Given the description of an element on the screen output the (x, y) to click on. 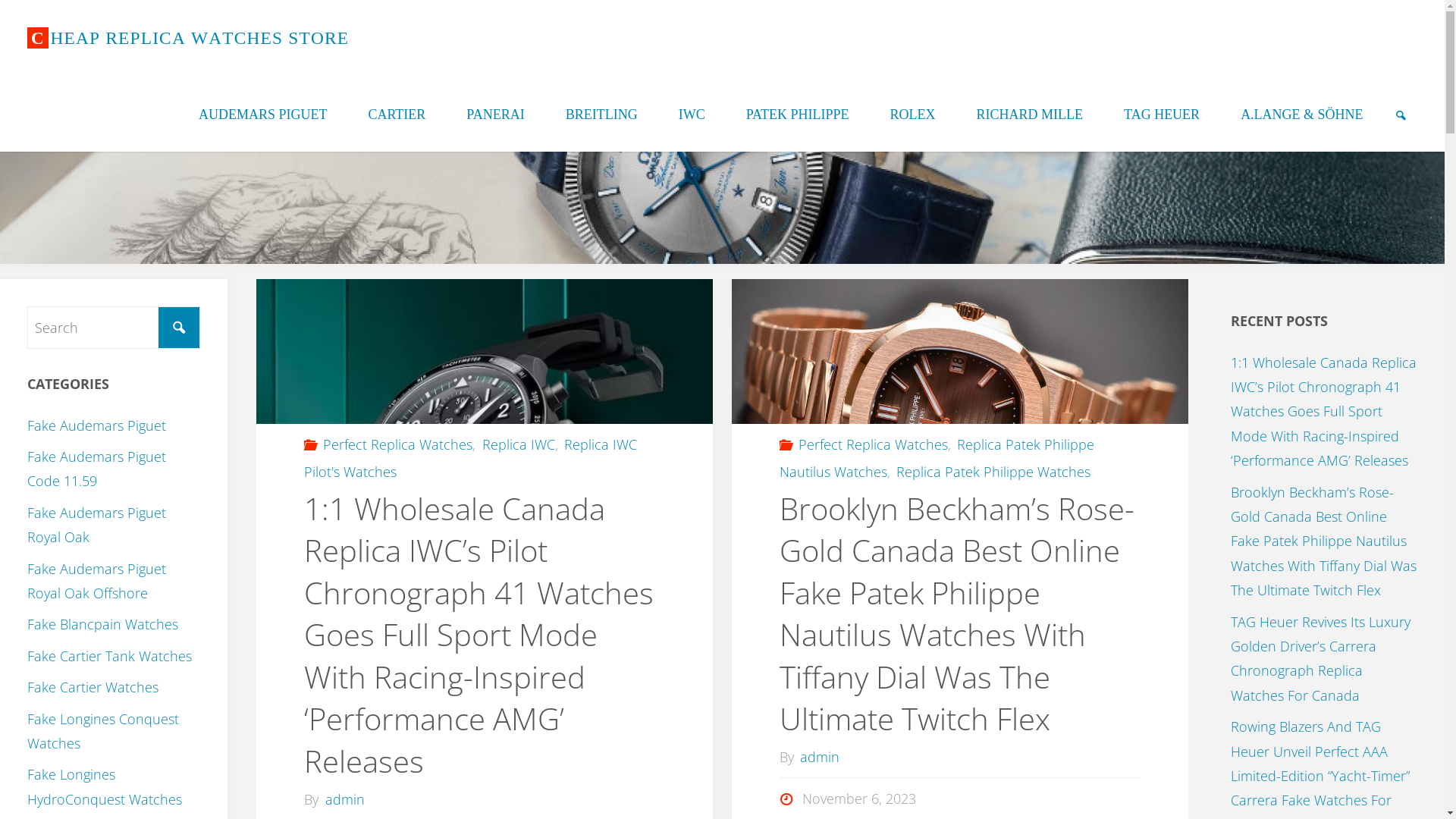
Fake Audemars Piguet Code 11.59 Element type: text (96, 468)
admin Element type: text (343, 799)
BREITLING Element type: text (601, 113)
PATEK PHILIPPE Element type: text (797, 113)
RICHARD MILLE Element type: text (1030, 113)
Fake Blancpain Watches Element type: text (102, 624)
CHEAP REPLICA WATCHES STORE Element type: text (187, 37)
CARTIER Element type: text (396, 113)
Replica IWC Pilot's Watches Element type: text (470, 457)
IWC Element type: text (691, 113)
Fake Cartier Tank Watches Element type: text (109, 655)
Perfect Replica Watches Element type: text (396, 444)
Fake Audemars Piguet Royal Oak Offshore Element type: text (96, 580)
Categories Element type: hover (312, 444)
AUDEMARS PIGUET Element type: text (263, 113)
Categories Element type: hover (787, 444)
Replica Patek Philippe Nautilus Watches Element type: text (937, 457)
Fake Audemars Piguet Royal Oak Element type: text (96, 524)
Replica IWC Element type: text (517, 444)
TAG HEUER Element type: text (1161, 113)
Fake Longines HydroConquest Watches Element type: text (104, 786)
admin Element type: text (818, 756)
Fake Longines Conquest Watches Element type: text (102, 730)
PANERAI Element type: text (494, 113)
Date Element type: hover (787, 798)
Replica Patek Philippe Watches Element type: text (992, 471)
Fake Cartier Watches Element type: text (92, 686)
Perfect Replica Watches Element type: text (871, 444)
ROLEX Element type: text (912, 113)
Fake Audemars Piguet Element type: text (96, 425)
